Given the description of an element on the screen output the (x, y) to click on. 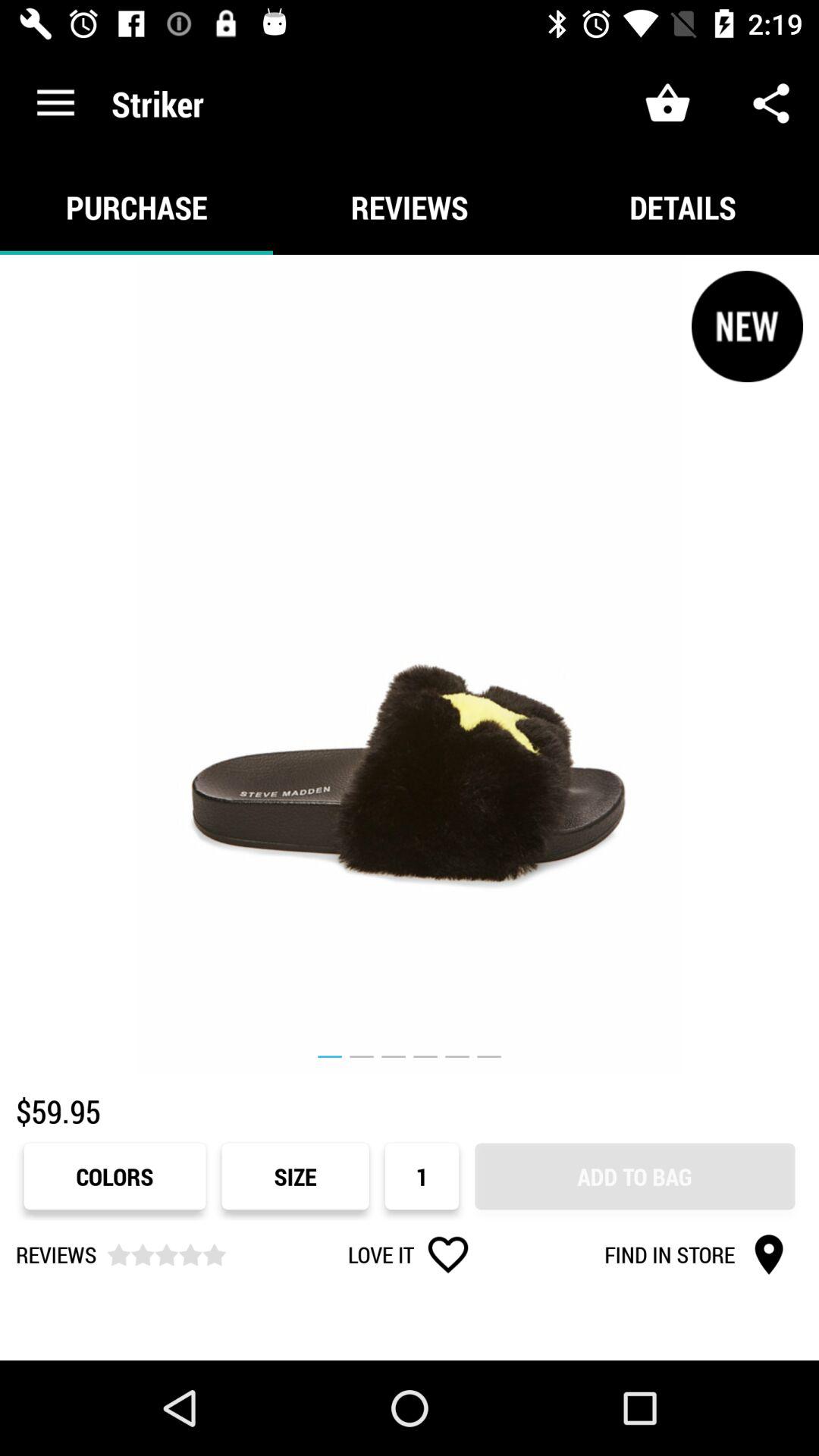
select item next to the striker (55, 103)
